Given the description of an element on the screen output the (x, y) to click on. 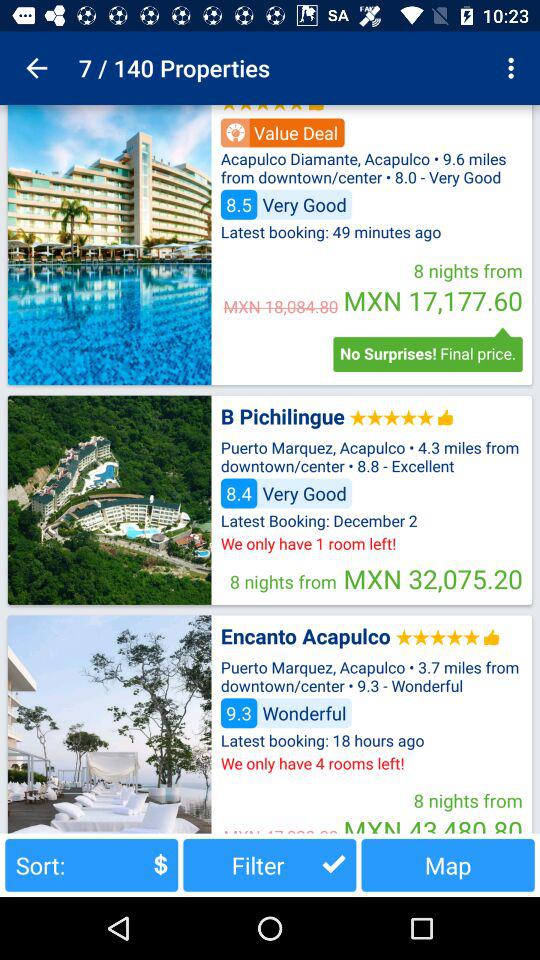
turn off sort:  button (91, 864)
